Given the description of an element on the screen output the (x, y) to click on. 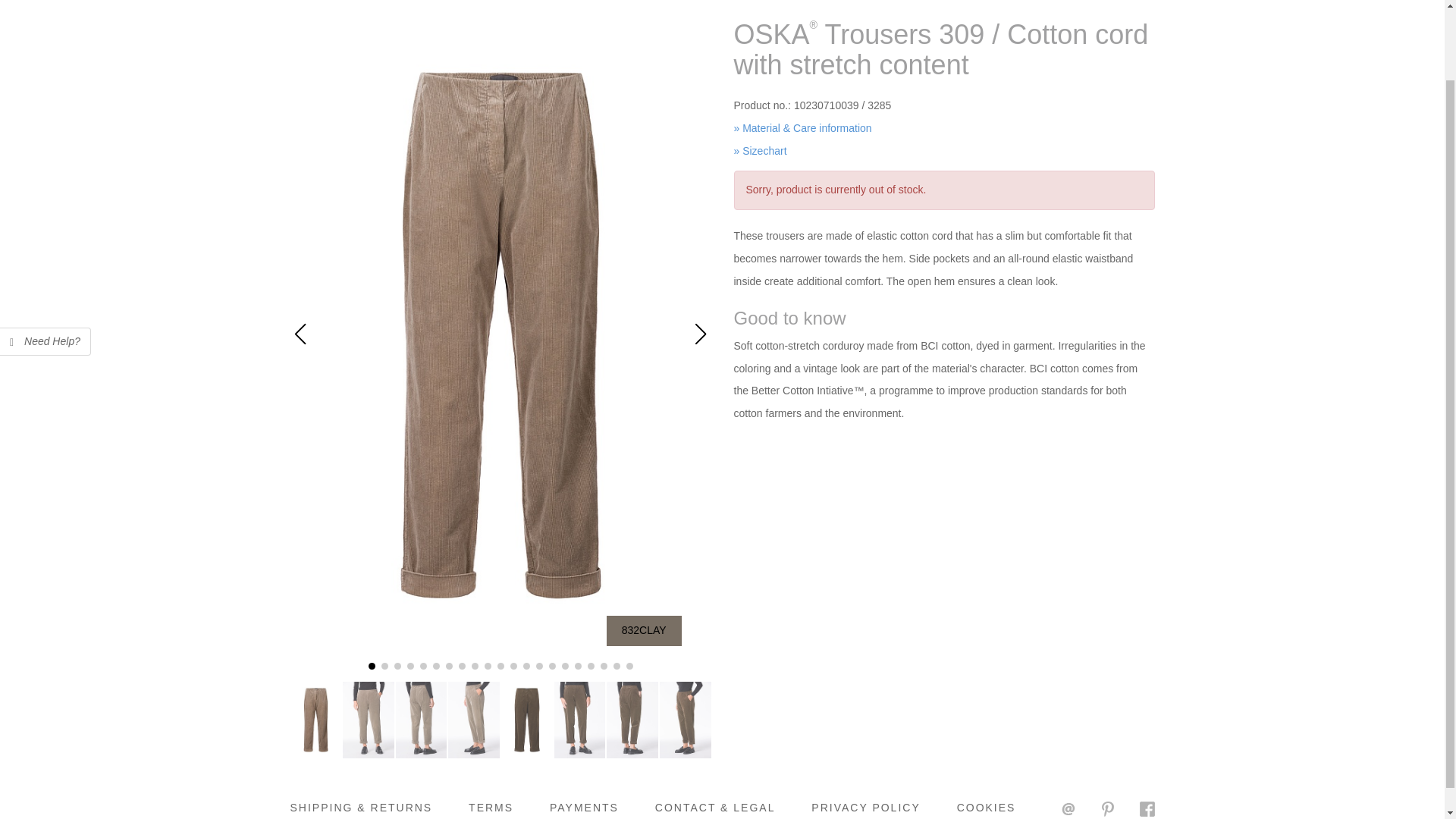
ABOUT US (709, 2)
SEE MORE (610, 2)
LOOKS (379, 2)
STYLECOACHING (488, 2)
STORES (857, 2)
B2B (785, 2)
SHOP (315, 2)
